Given the description of an element on the screen output the (x, y) to click on. 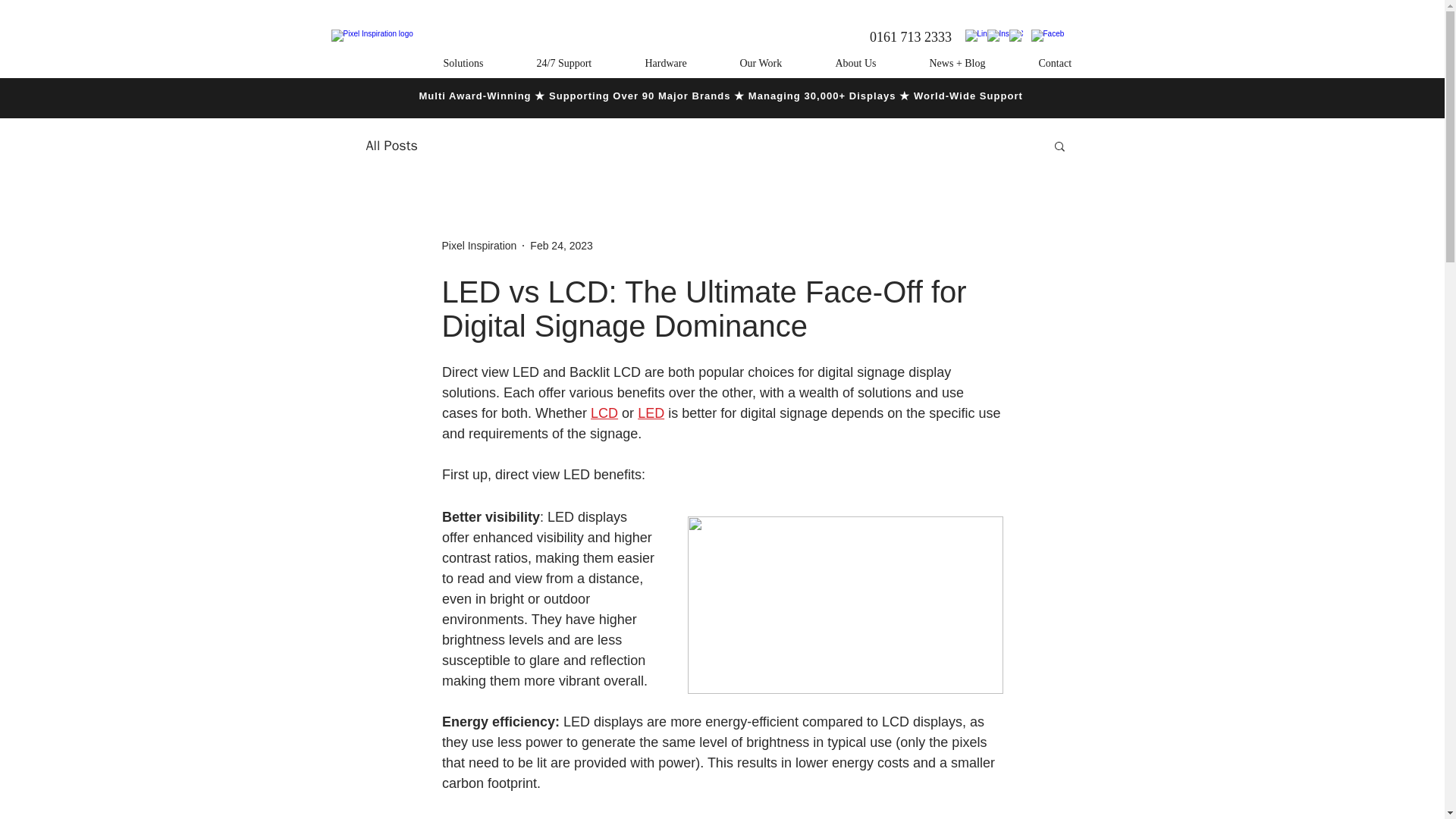
Feb 24, 2023 (560, 245)
0161 713 2333 (911, 36)
Pixel Inspiration (478, 245)
pixel-logo-black.png (372, 50)
